Given the description of an element on the screen output the (x, y) to click on. 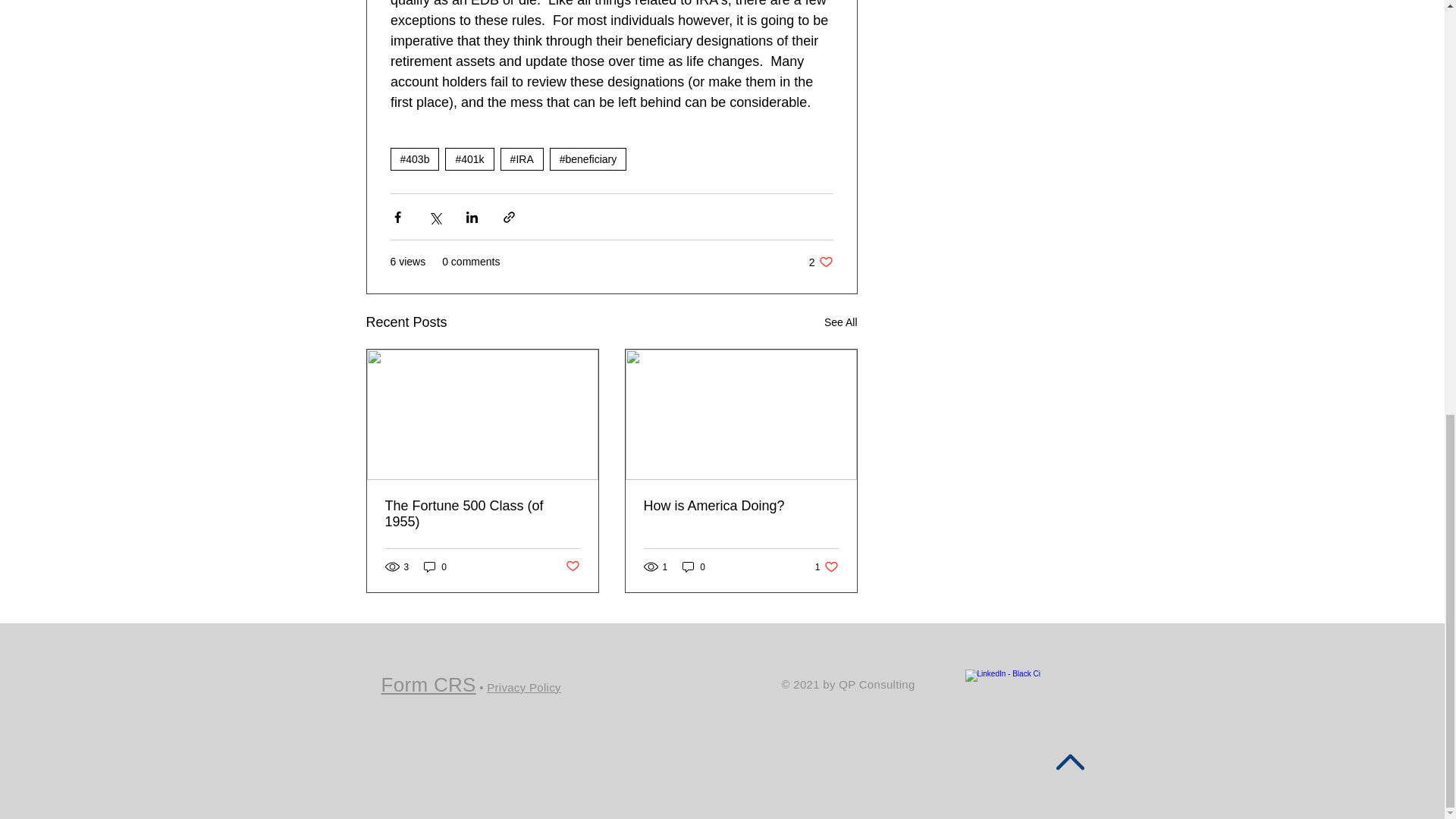
Form CRS (428, 684)
See All (840, 322)
Privacy Policy (523, 686)
How is America Doing? (820, 261)
0 (740, 505)
Post not marked as liked (826, 566)
0 (435, 566)
